Given the description of an element on the screen output the (x, y) to click on. 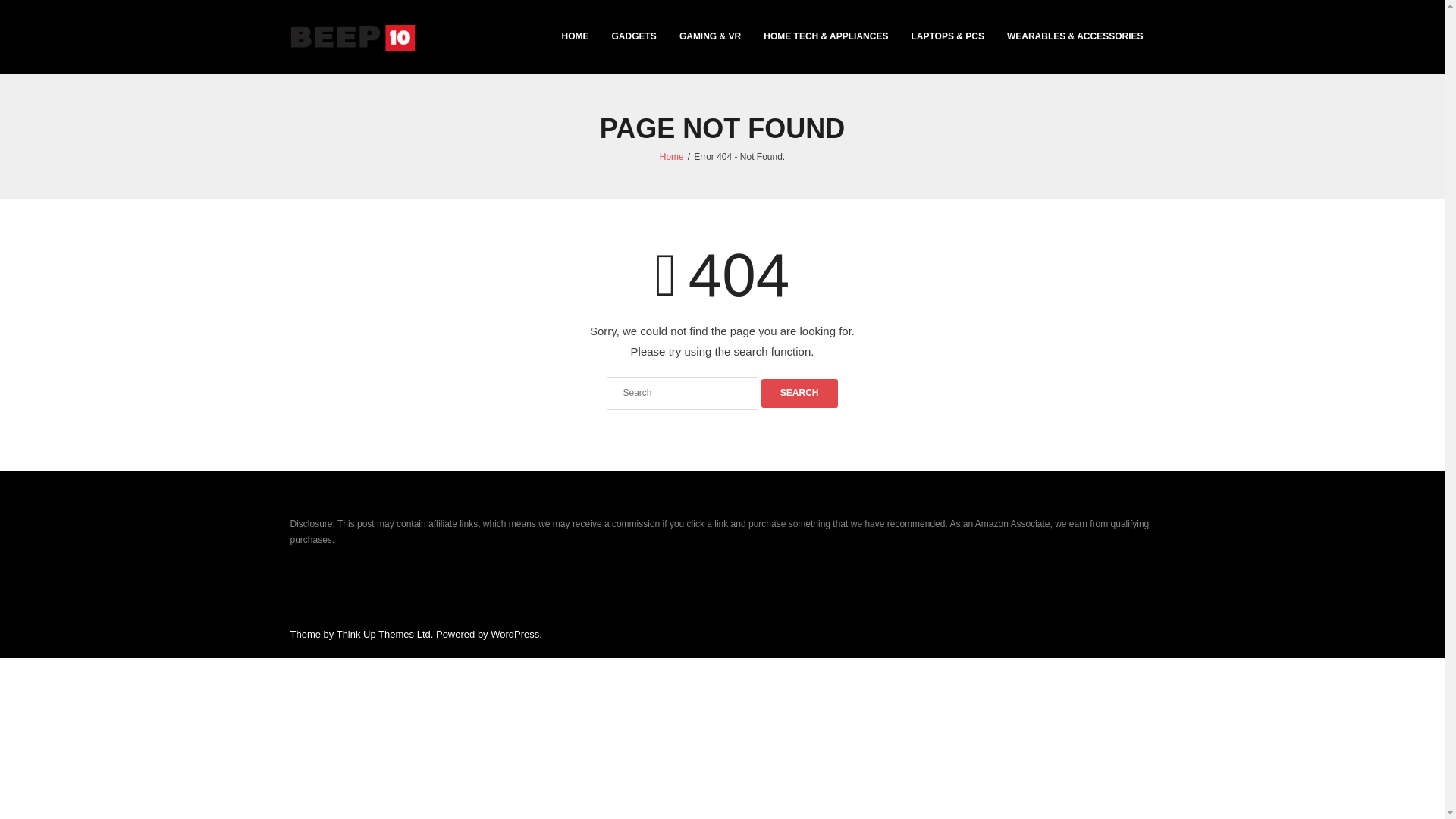
Search (799, 393)
Search (799, 393)
Think Up Themes Ltd (383, 633)
Search (799, 393)
GADGETS (633, 37)
Home (671, 156)
WordPress (514, 633)
